Given the description of an element on the screen output the (x, y) to click on. 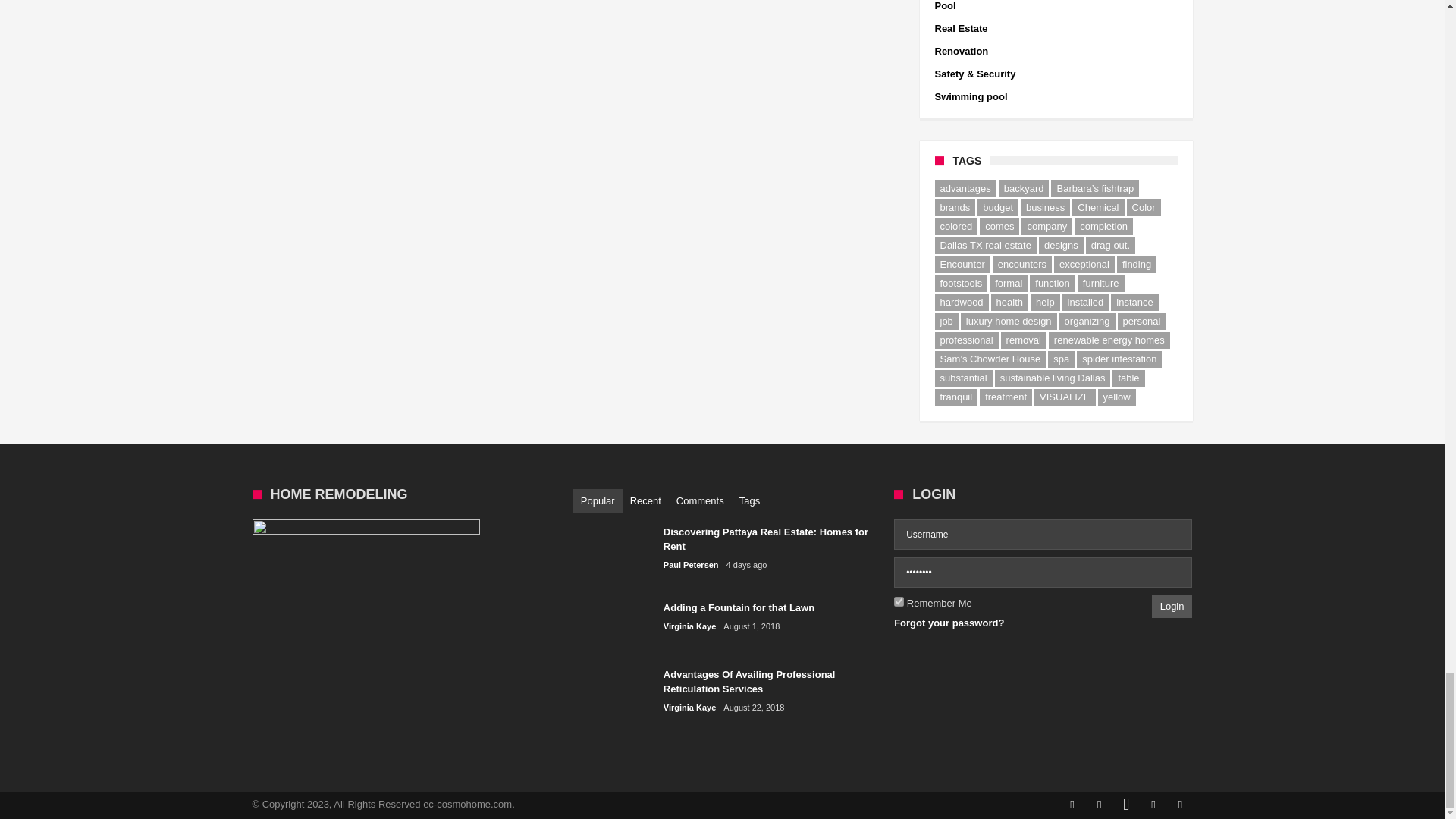
Password (1042, 572)
Username (1042, 534)
forever (898, 601)
